Given the description of an element on the screen output the (x, y) to click on. 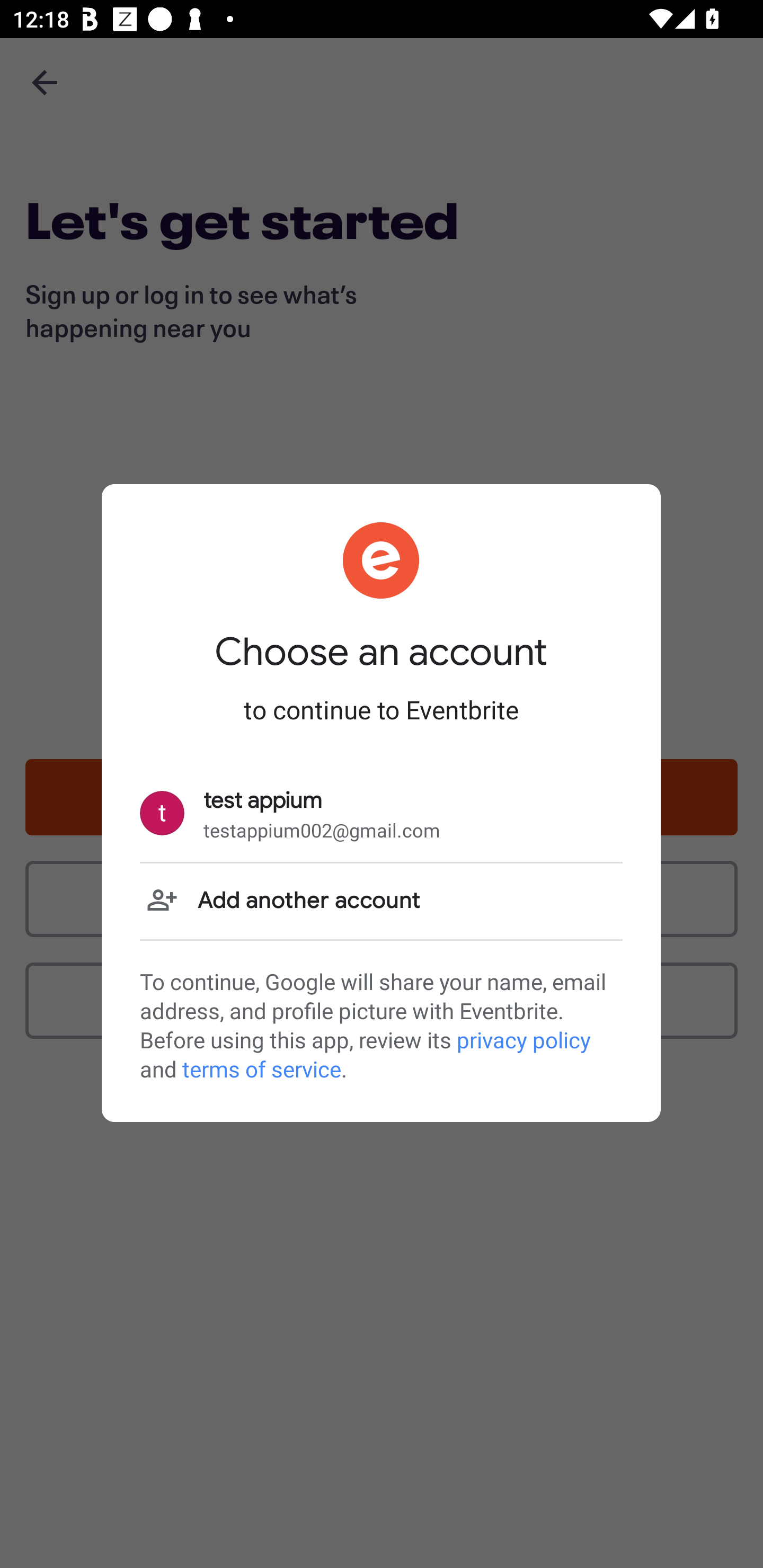
test appium testappium002@gmail.com (380, 813)
Add another account (380, 900)
